Given the description of an element on the screen output the (x, y) to click on. 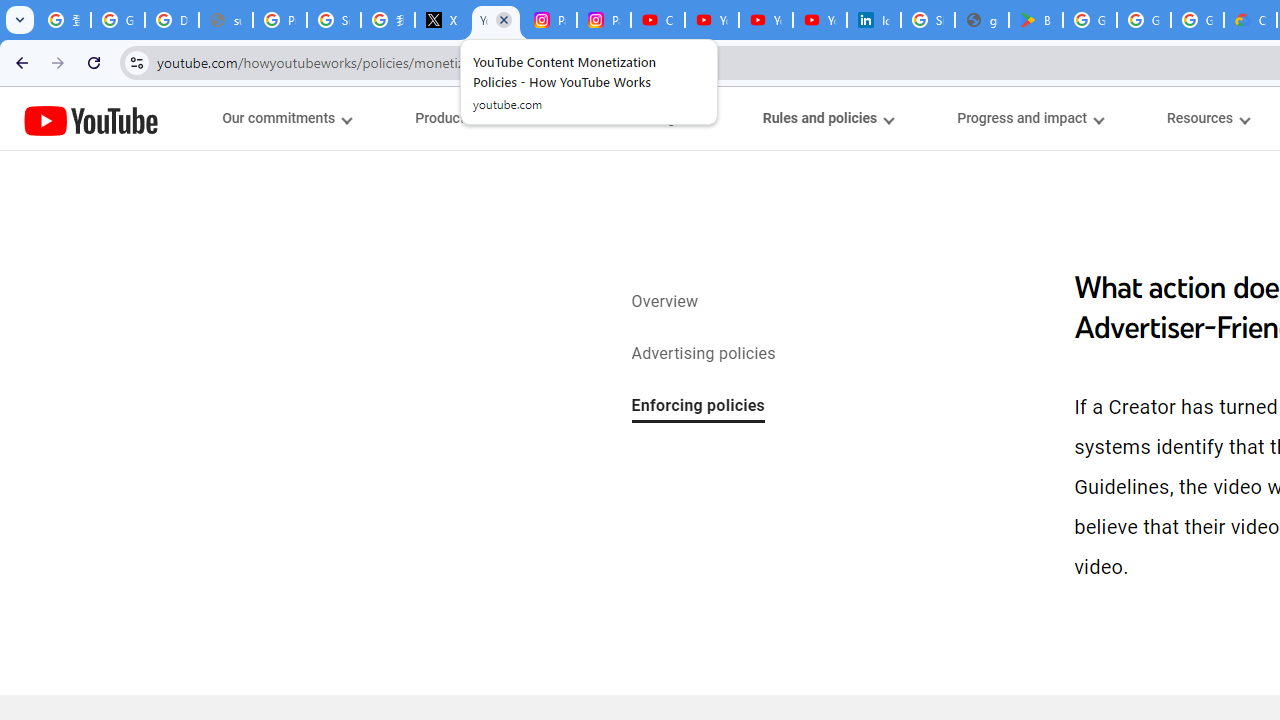
Sign in - Google Accounts (333, 20)
Progress and impact menupopup (1030, 118)
Bluey: Let's Play! - Apps on Google Play (1035, 20)
Google Workspace - Specific Terms (1144, 20)
Sign in - Google Accounts (927, 20)
Rules and policies menupopup (827, 118)
User settings menupopup (648, 118)
